Given the description of an element on the screen output the (x, y) to click on. 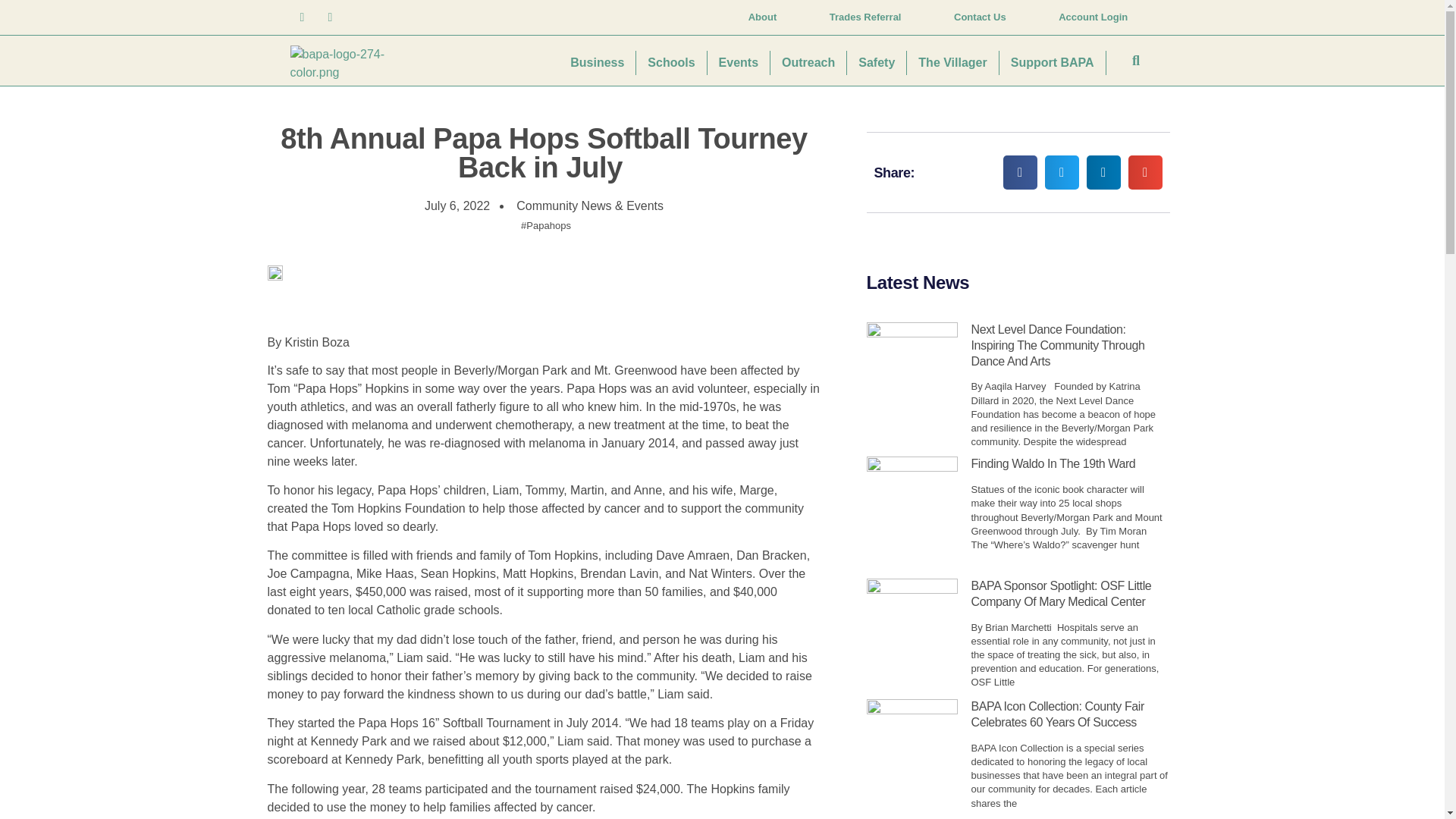
Safety (877, 61)
Account Login (1093, 17)
Business (597, 61)
About (762, 17)
Schools (671, 61)
Outreach (808, 61)
Events (738, 61)
bapa-logo-274-color.png (349, 63)
Trades Referral (865, 17)
The Villager (952, 61)
Support BAPA (1052, 61)
Contact Us (979, 17)
